Given the description of an element on the screen output the (x, y) to click on. 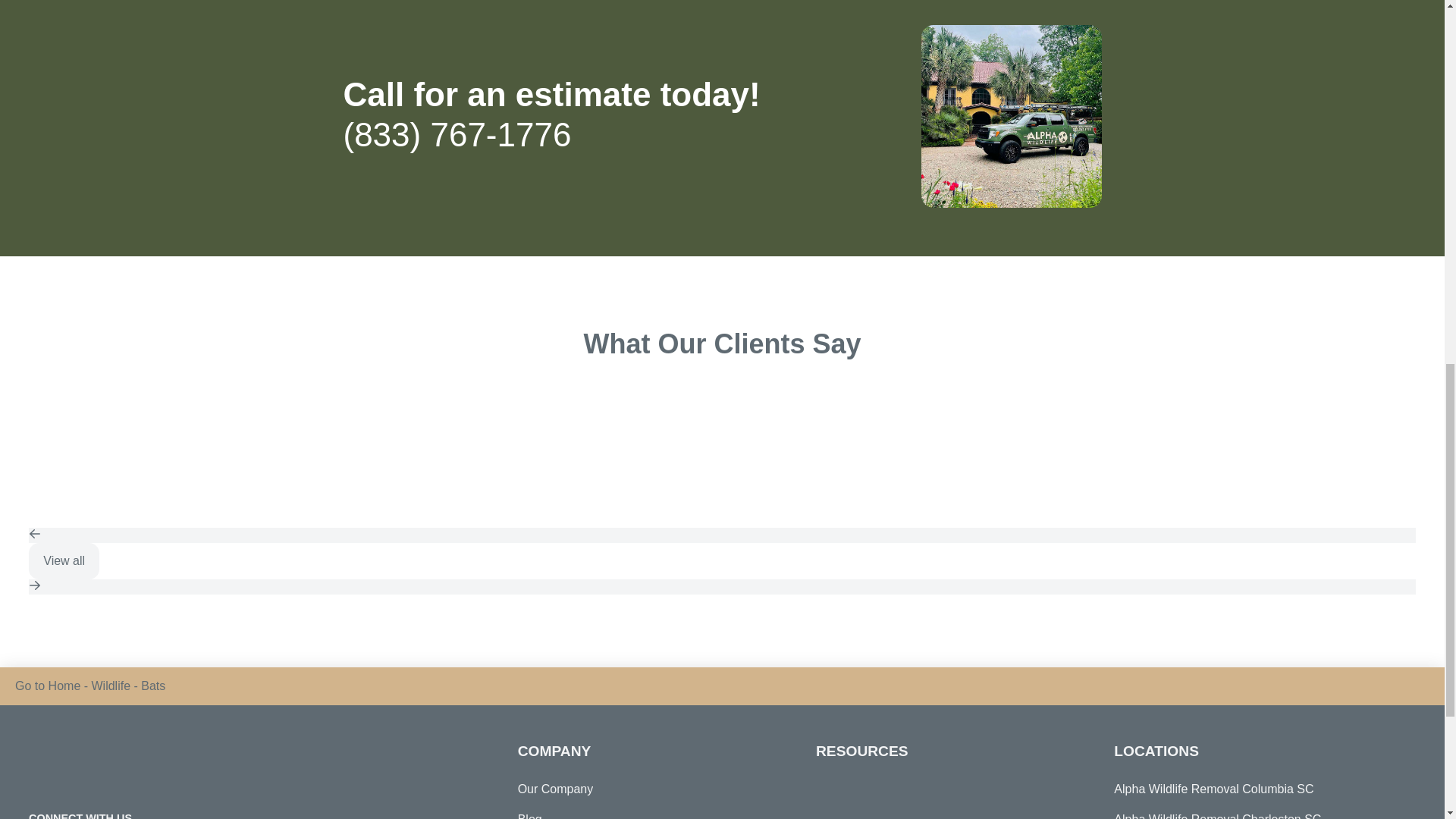
Wildlife (110, 685)
View all (64, 560)
Home (64, 685)
Alpha Wildlife Removal Columbia SC (1254, 788)
Blog (529, 811)
Alpha Wildlife Removal Charleston SC (1254, 811)
Our Company (556, 788)
